Given the description of an element on the screen output the (x, y) to click on. 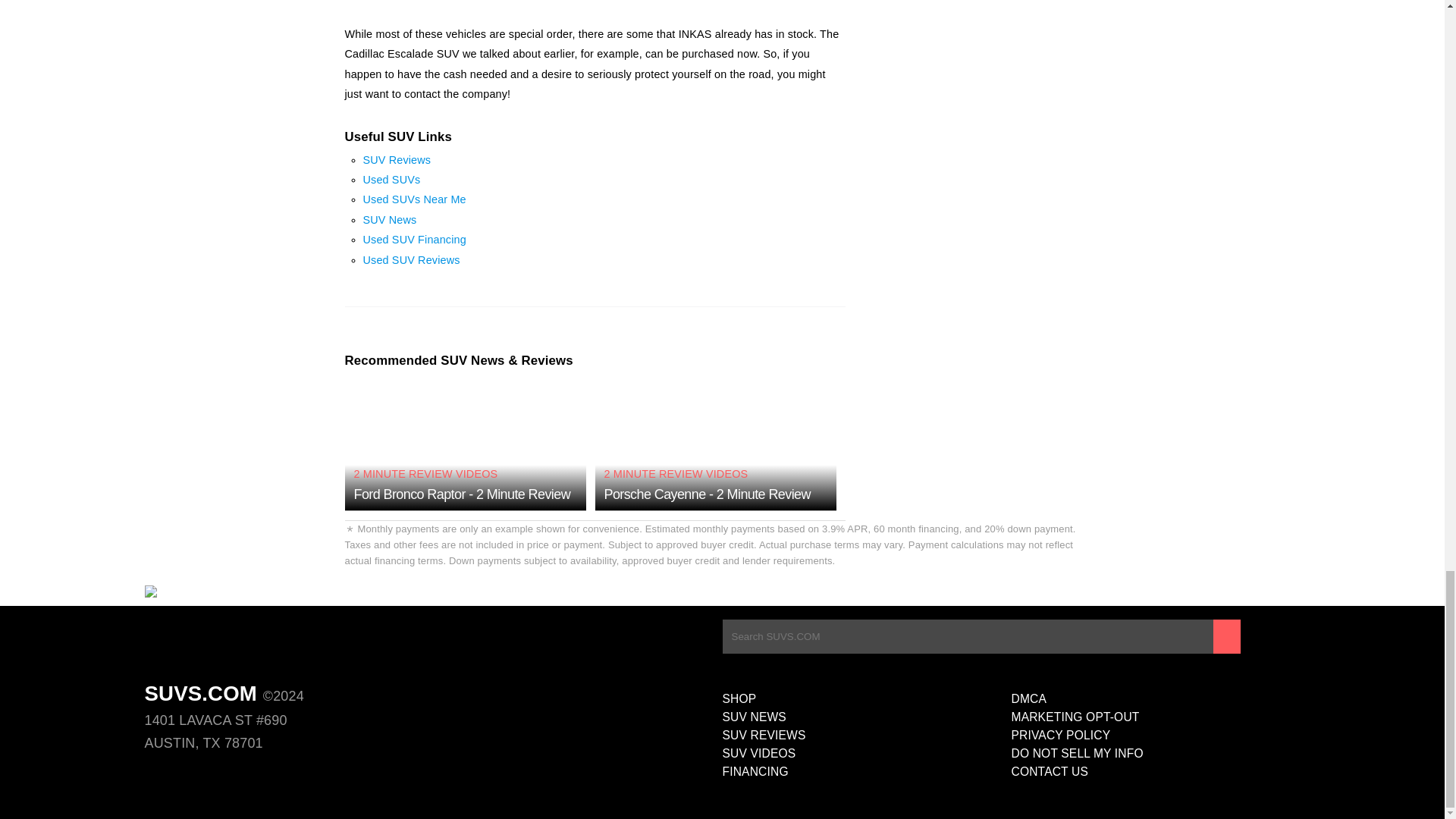
MARKETING OPT-OUT (1155, 717)
DO NOT SELL MY INFO (1155, 753)
FINANCING (866, 771)
PRIVACY POLICY (1155, 735)
Used SUVs (391, 179)
Porsche Cayenne - 2 Minute Review (706, 494)
SUV news, reviews, and used cars for sale. (219, 594)
SUV REVIEWS (866, 735)
Used SUV Reviews (411, 259)
Used SUVs Near Me (413, 199)
SHOP (866, 699)
Ford Bronco Raptor - 2 Minute Review (461, 494)
SUV Reviews (396, 159)
SUV NEWS (866, 717)
Used SUV Financing (413, 239)
